Given the description of an element on the screen output the (x, y) to click on. 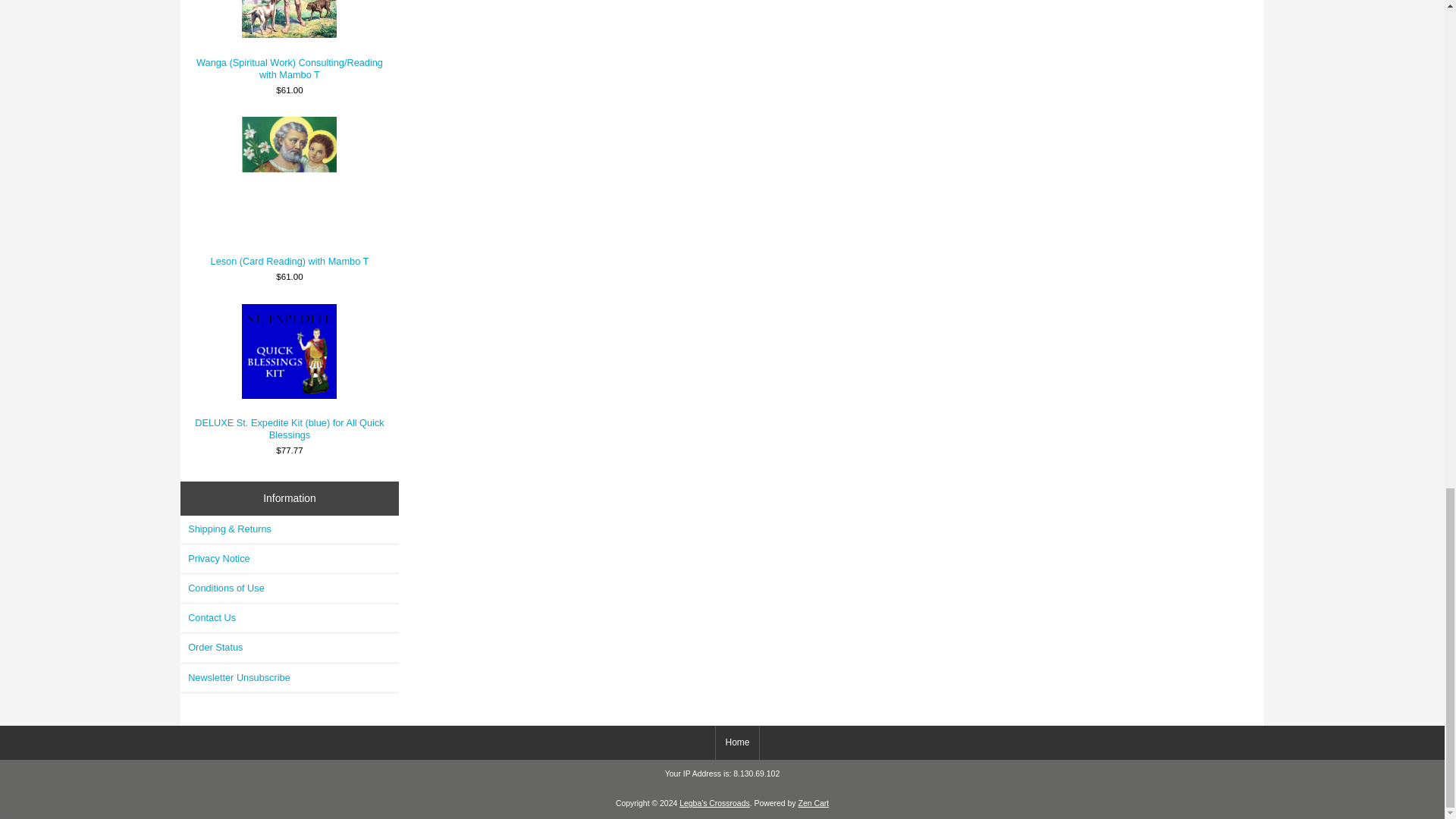
Home (737, 742)
Order Status (289, 646)
Contact Us (289, 617)
Privacy Notice (289, 558)
Newsletter Unsubscribe (289, 677)
Conditions of Use (289, 587)
